Given the description of an element on the screen output the (x, y) to click on. 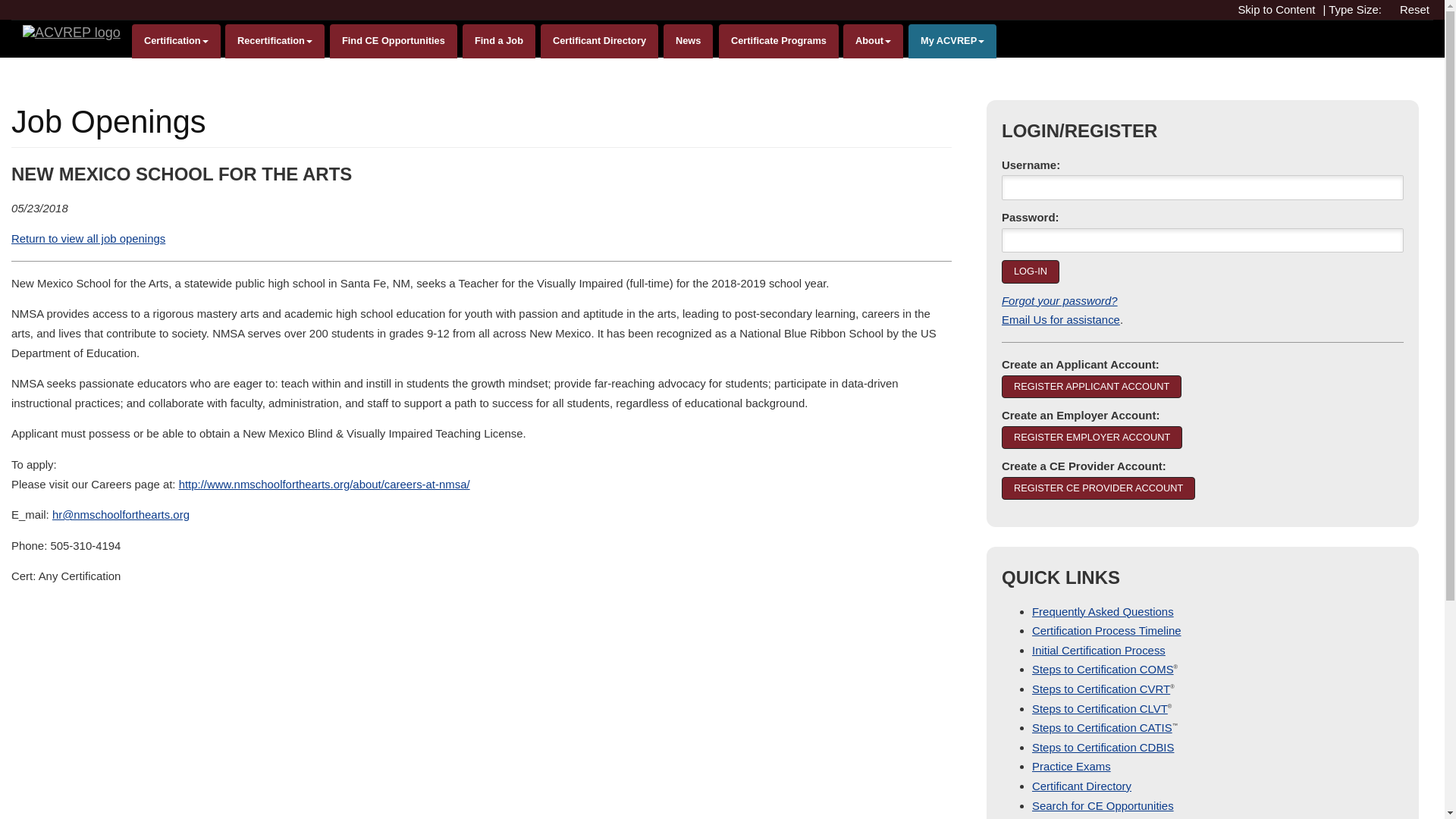
Register Applicant Account (1090, 386)
Find a Job (499, 41)
skip to content (1279, 9)
Reset (1418, 9)
Register Employer Account (1091, 436)
About (872, 41)
News (688, 41)
Certificant Directory (599, 41)
reset type size (1418, 9)
Skip to Content (1279, 9)
